Given the description of an element on the screen output the (x, y) to click on. 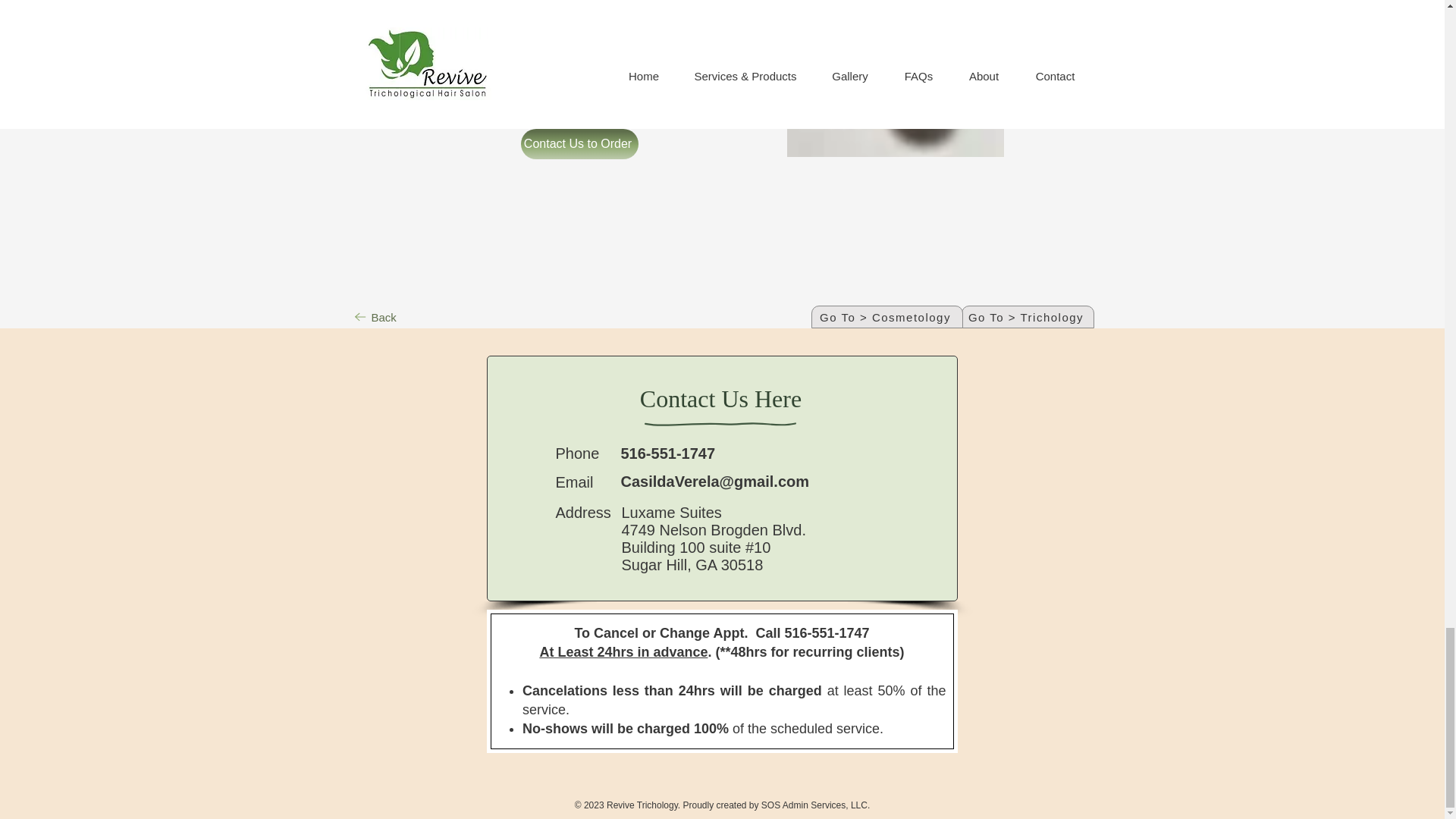
Revive Trichology offers its own brand of  (556, 6)
Back (376, 316)
Contact Us to Order (578, 143)
